Given the description of an element on the screen output the (x, y) to click on. 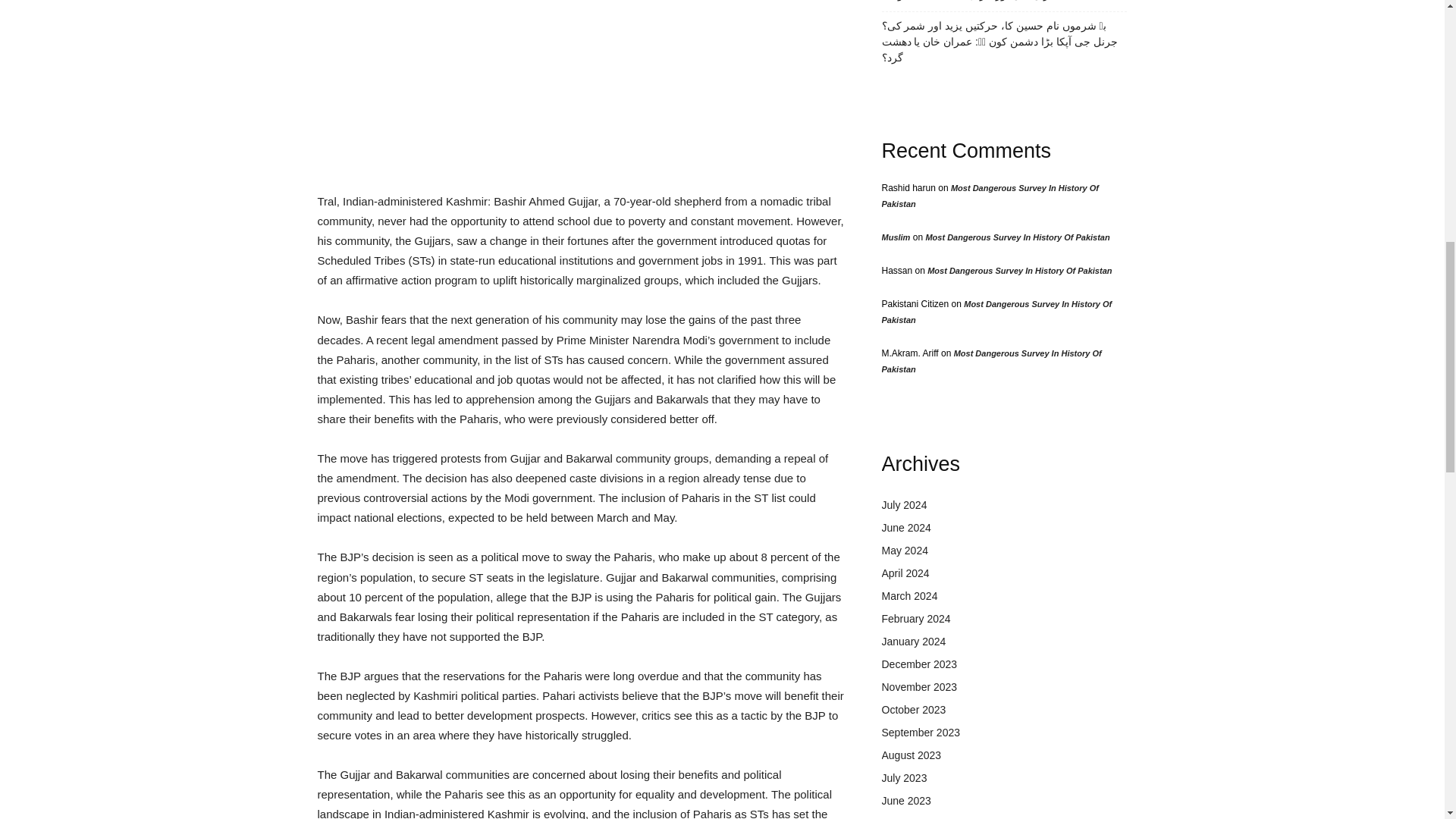
gujjar-1708584601jpg (580, 85)
